Given the description of an element on the screen output the (x, y) to click on. 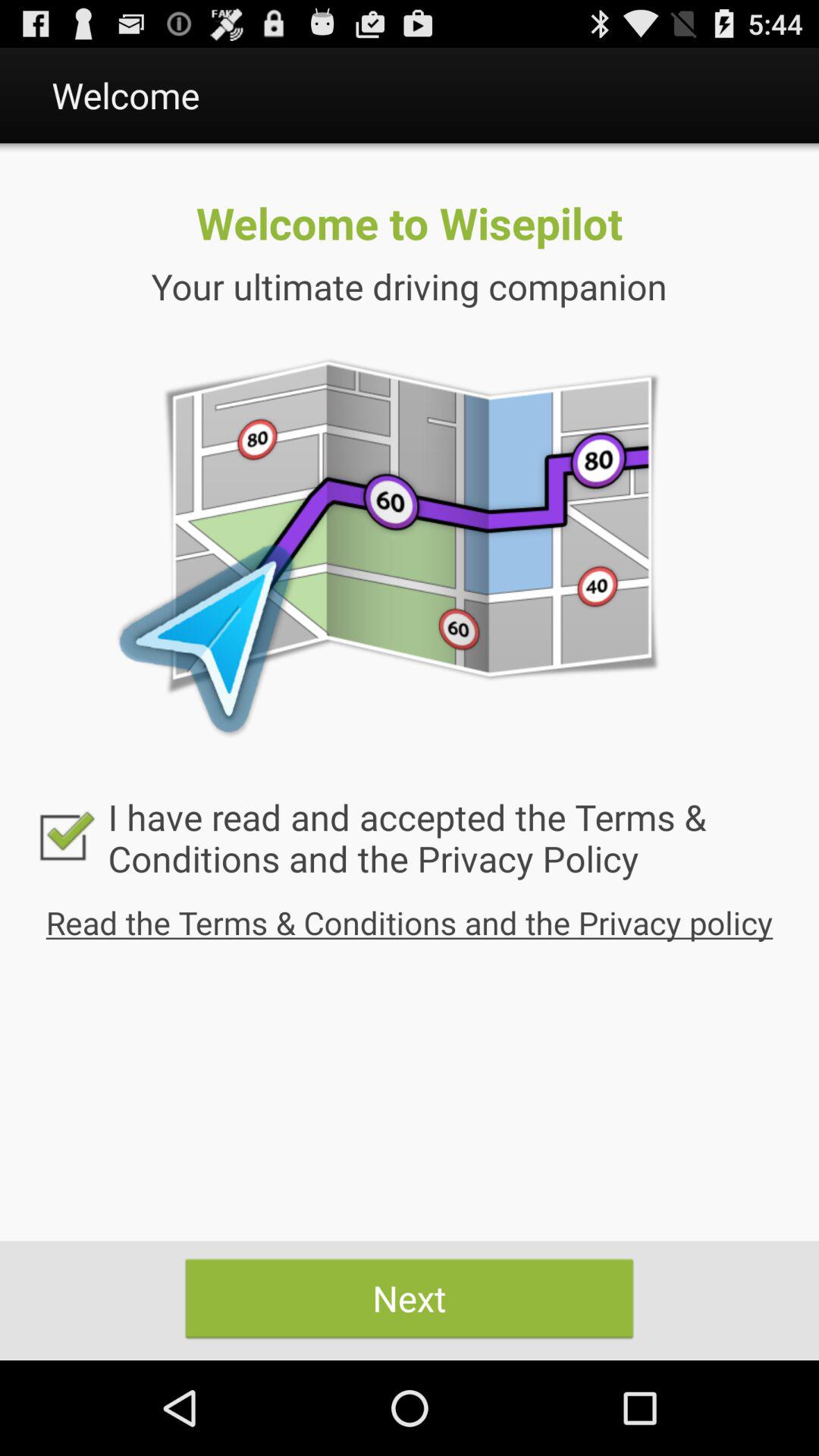
launch icon at the bottom (409, 1298)
